Given the description of an element on the screen output the (x, y) to click on. 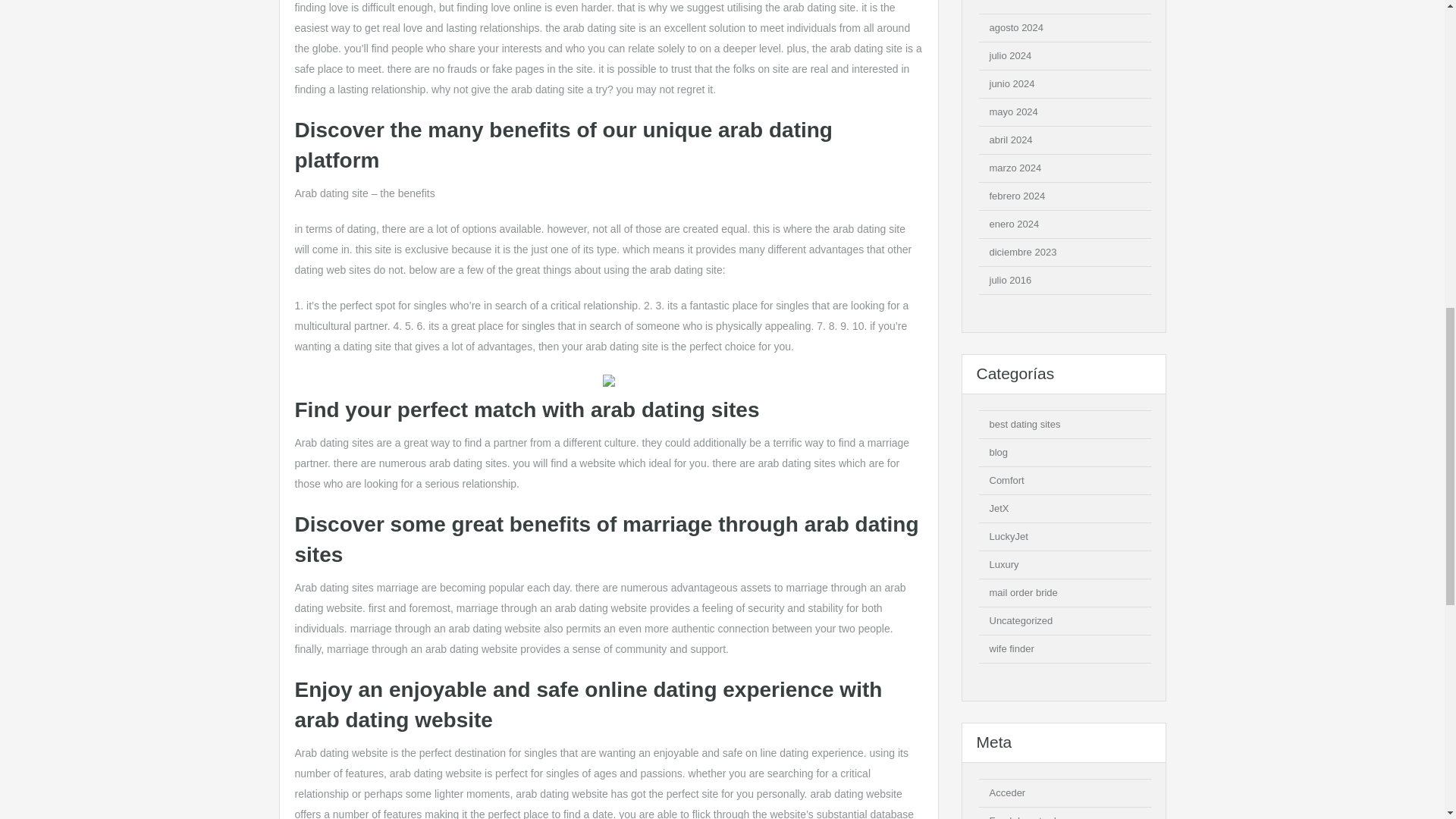
mail order bride (1022, 592)
LuckyJet (1007, 536)
blog (997, 451)
enero 2024 (1013, 224)
abril 2024 (1010, 139)
Luxury (1002, 564)
julio 2016 (1009, 279)
julio 2024 (1009, 55)
diciembre 2023 (1022, 251)
mayo 2024 (1012, 111)
